Given the description of an element on the screen output the (x, y) to click on. 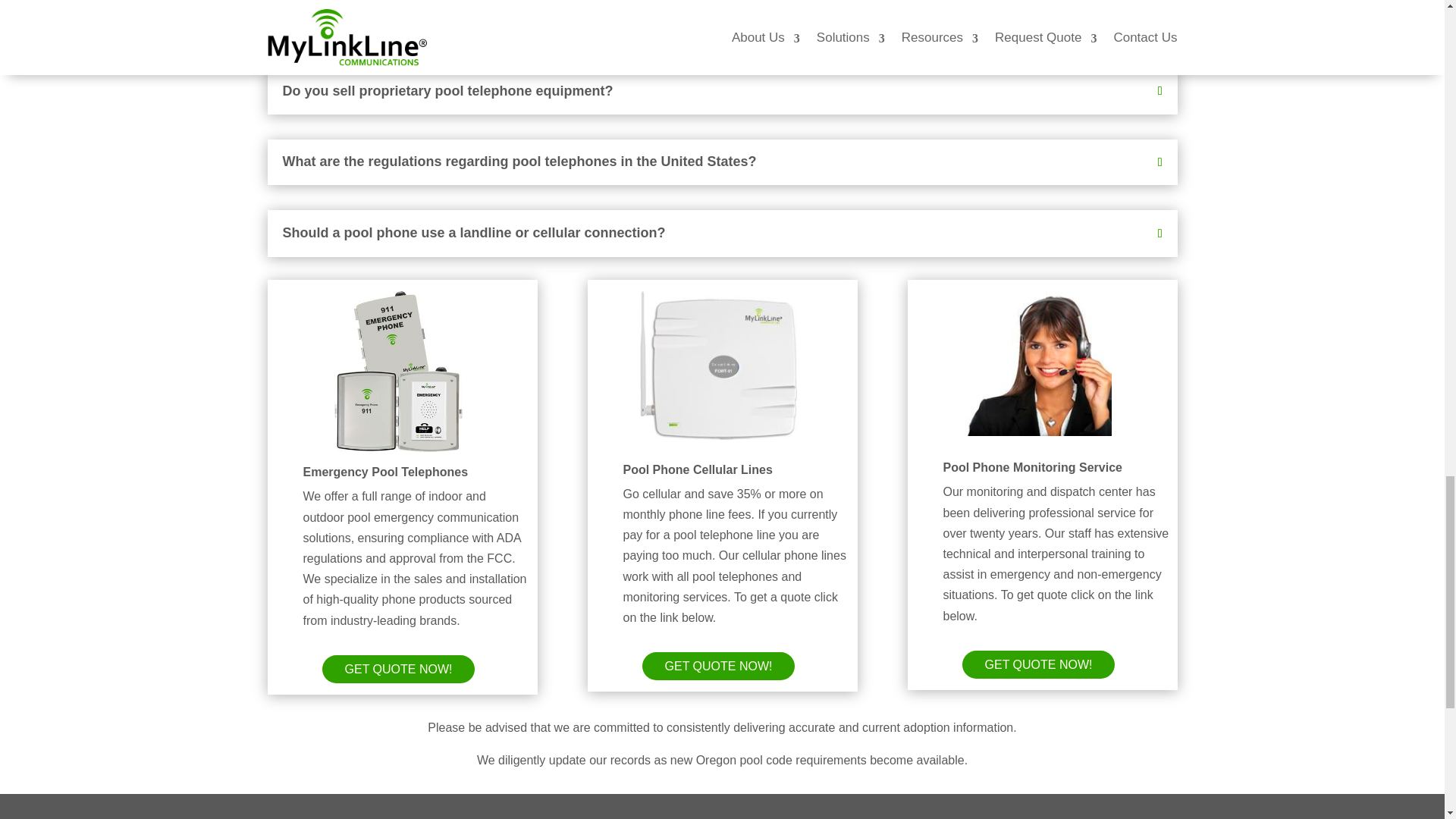
cellular pool phone line (718, 365)
Pool Phone MD (398, 371)
elevator-monitoring-sm (1038, 363)
